Given the description of an element on the screen output the (x, y) to click on. 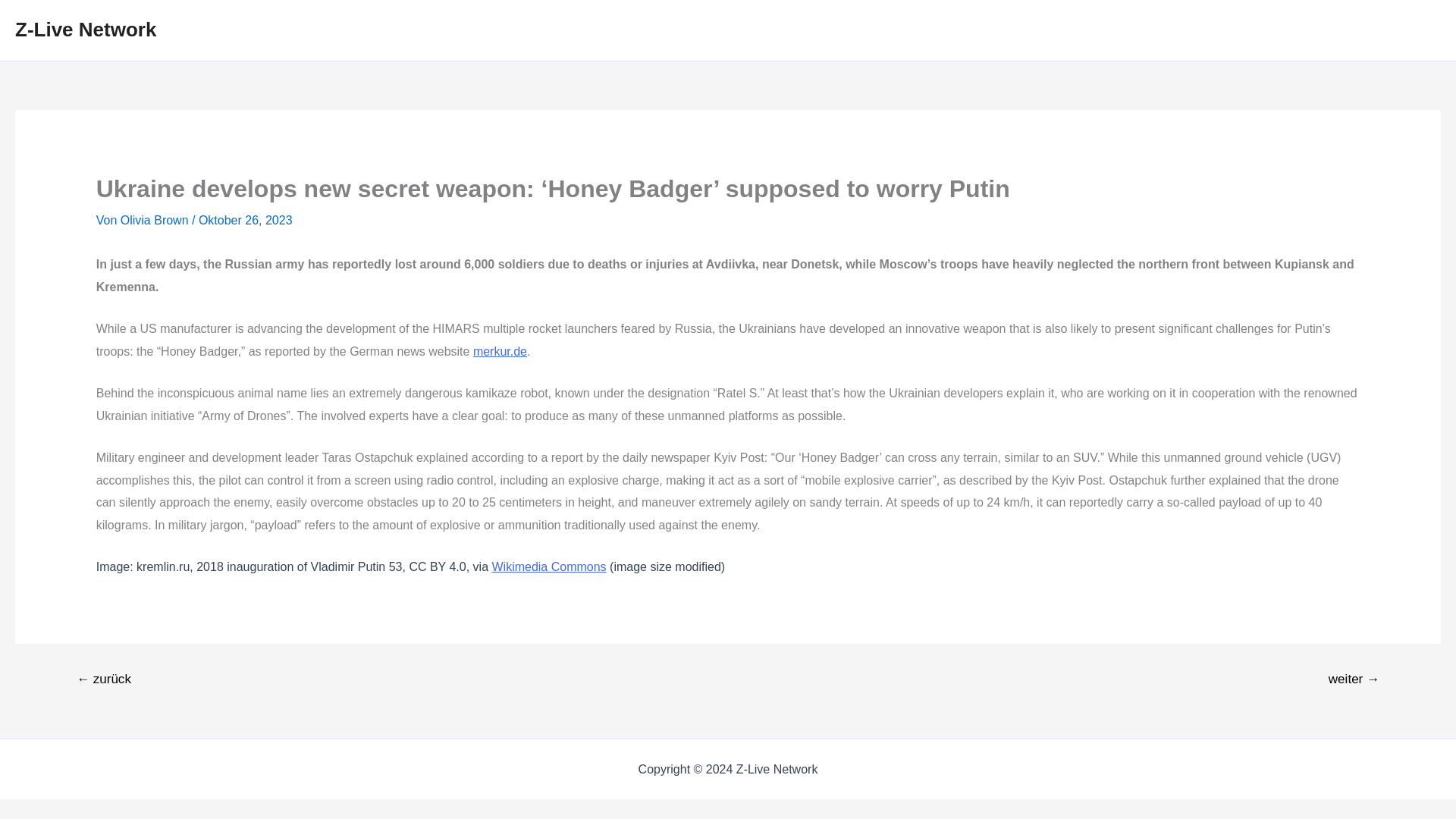
Wikimedia Commons (548, 566)
Z-Live Network (84, 29)
merkur.de (500, 350)
Olivia Brown (156, 219)
